Given the description of an element on the screen output the (x, y) to click on. 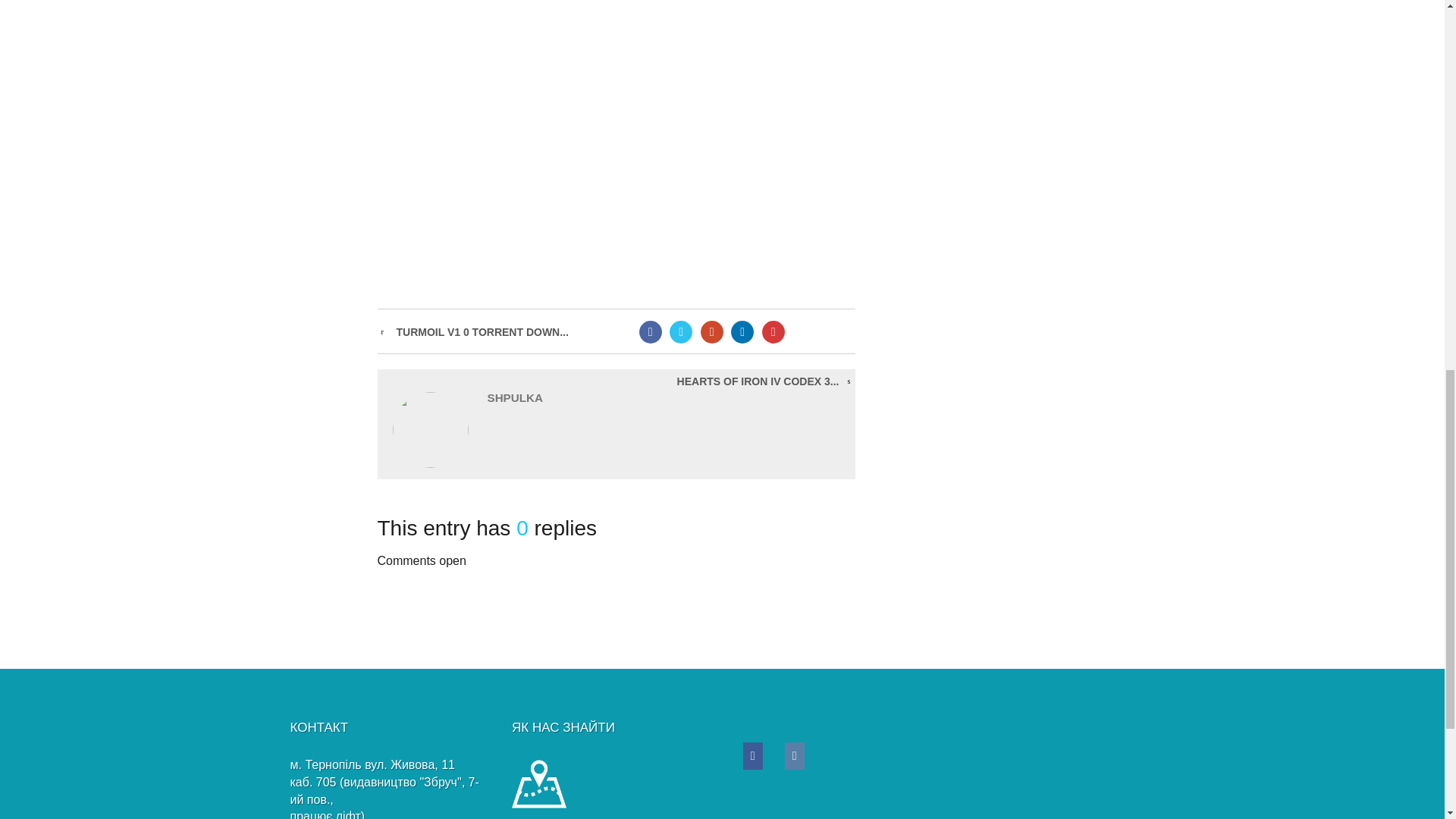
HEARTS OF IRON IV CODEX 3... (758, 381)
TURMOIL V1 0 TORRENT DOWN... (481, 331)
